Given the description of an element on the screen output the (x, y) to click on. 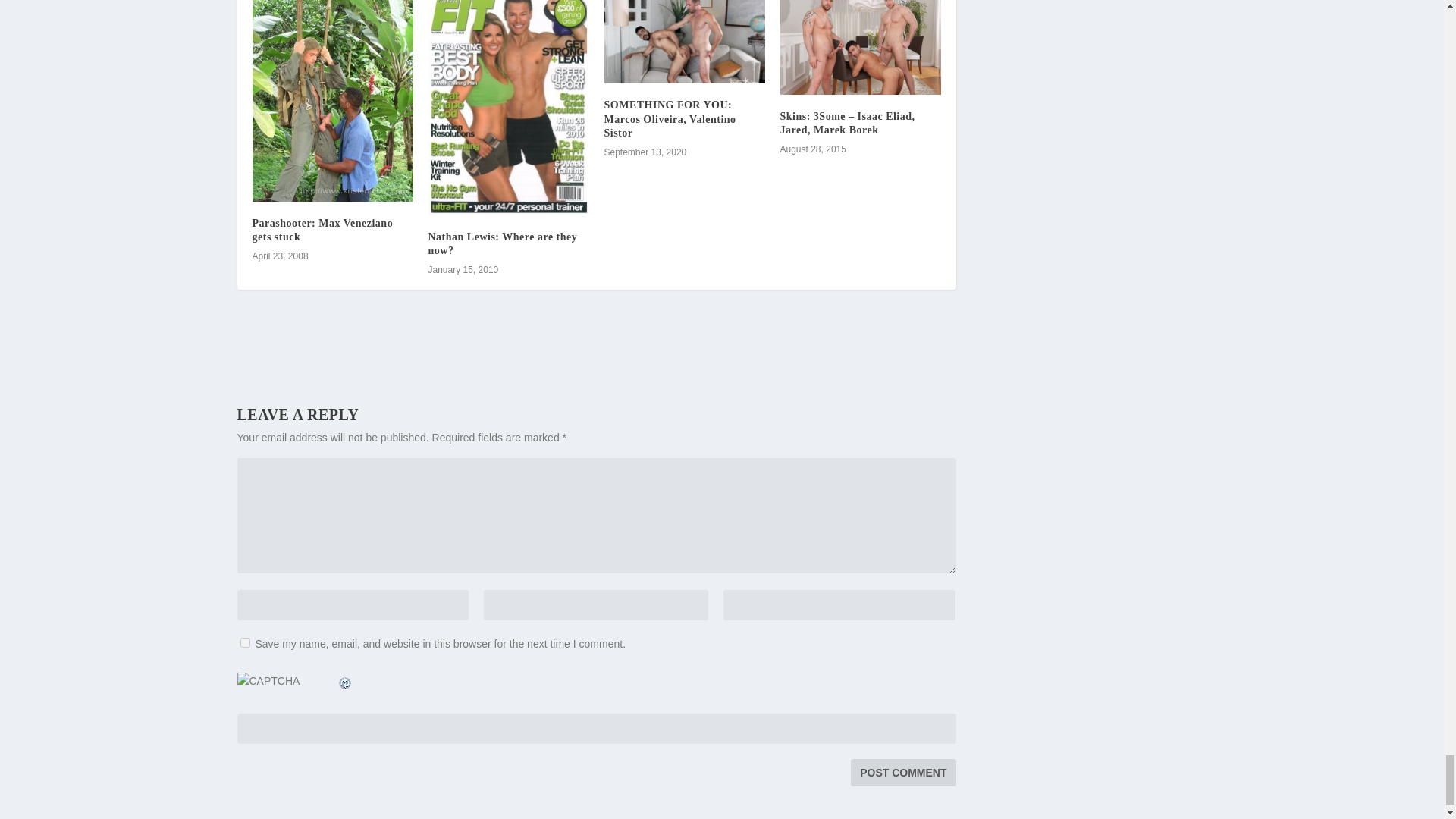
yes (244, 642)
Post Comment (902, 771)
